Given the description of an element on the screen output the (x, y) to click on. 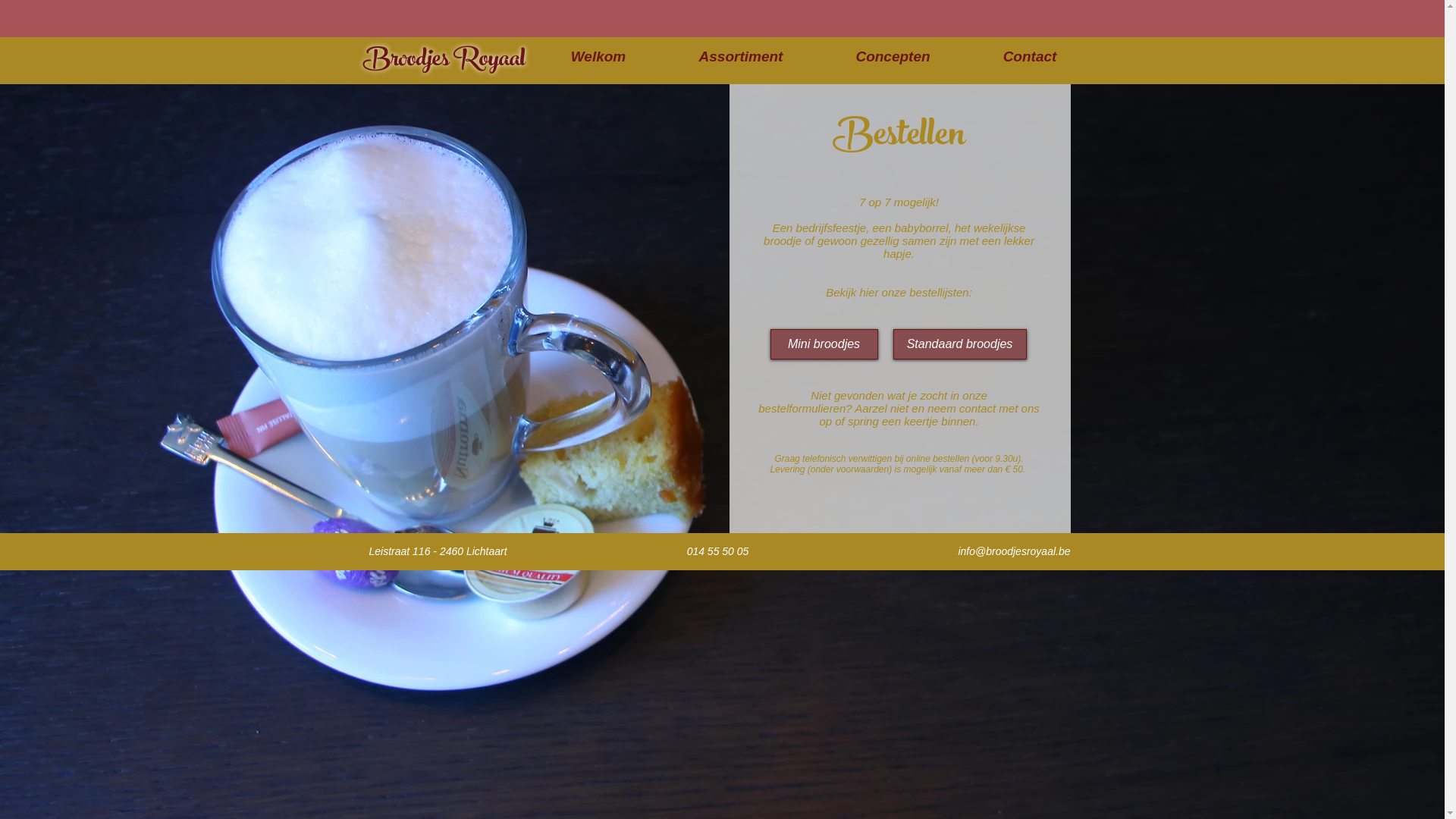
contact met ons op Element type: text (928, 414)
Contact Element type: text (1029, 56)
info@broodjesroyaal.be Element type: text (1013, 551)
Mini broodjes Element type: text (824, 344)
Broodjes Royaal Element type: text (443, 61)
014 55 50 05 Element type: text (718, 551)
Standaard broodjes Element type: text (959, 344)
Welkom Element type: text (597, 56)
Assortiment Element type: text (740, 56)
Restaurant Social Bar Element type: hover (82, 18)
Concepten Element type: text (892, 56)
